Given the description of an element on the screen output the (x, y) to click on. 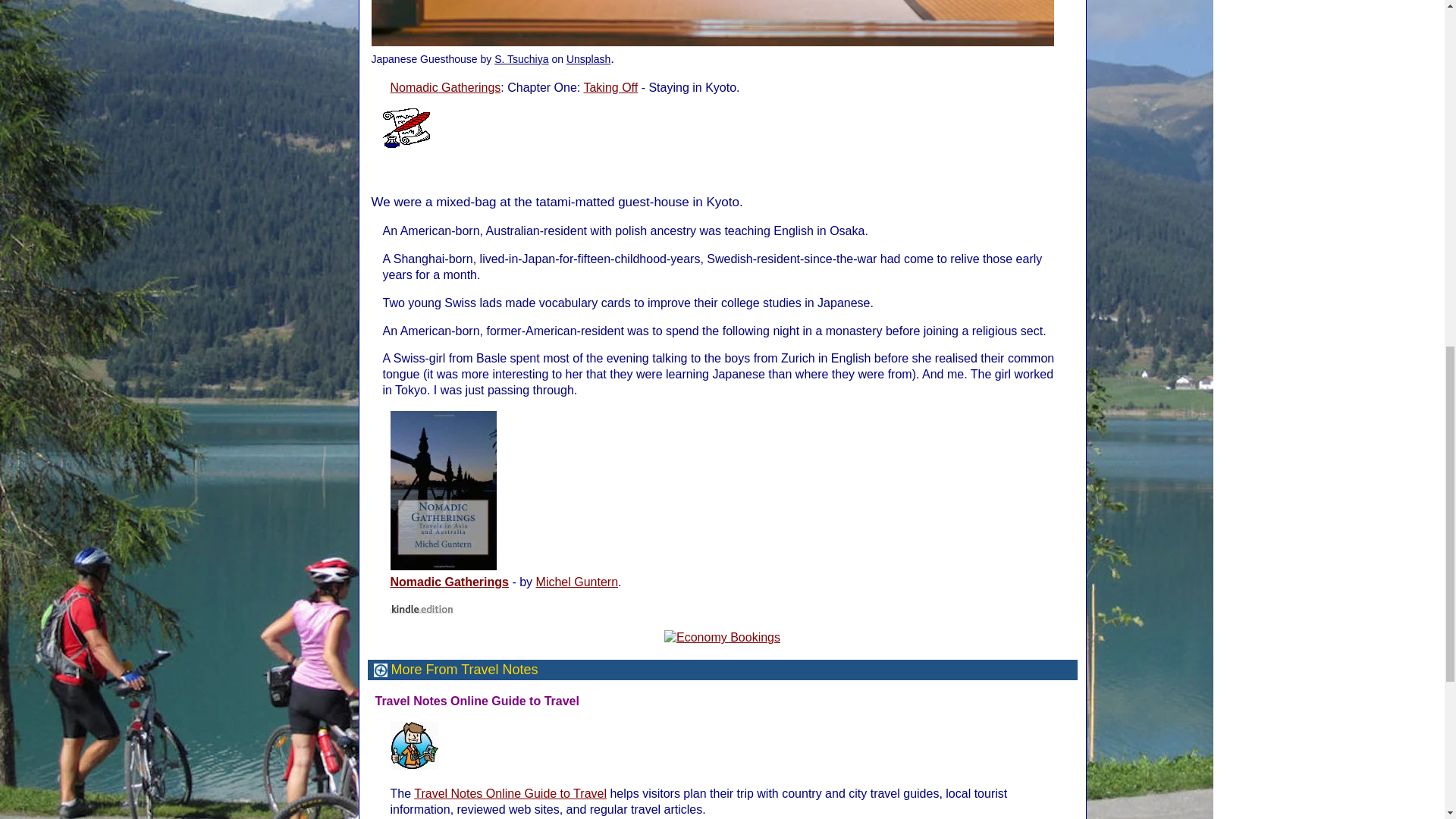
Nomadic Gatherings (449, 581)
Taking Off (610, 87)
Travel Notes Online Guide to Travel (510, 793)
S. Tsuchiya (521, 59)
Nomadic Gatherings (445, 87)
Michel Guntern (576, 581)
Unsplash (588, 59)
Join Michel on Meta-Travel (414, 745)
